Given the description of an element on the screen output the (x, y) to click on. 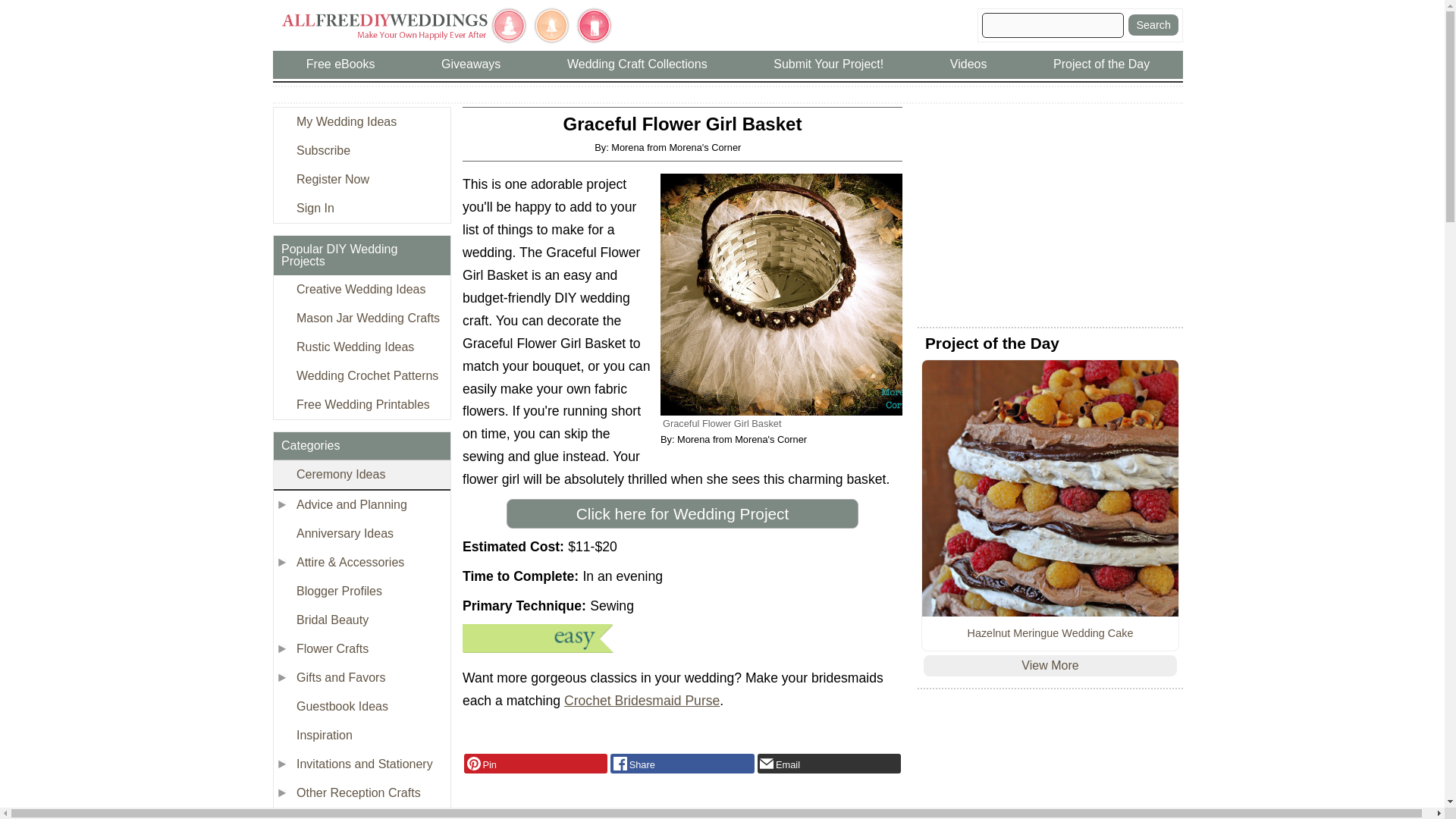
Graceful Flower Girl Basket (781, 294)
Facebook (682, 763)
Email (829, 763)
Sign In (361, 208)
Register Now (361, 179)
Search (1152, 25)
My Wedding Ideas (361, 121)
Subscribe (361, 150)
